Given the description of an element on the screen output the (x, y) to click on. 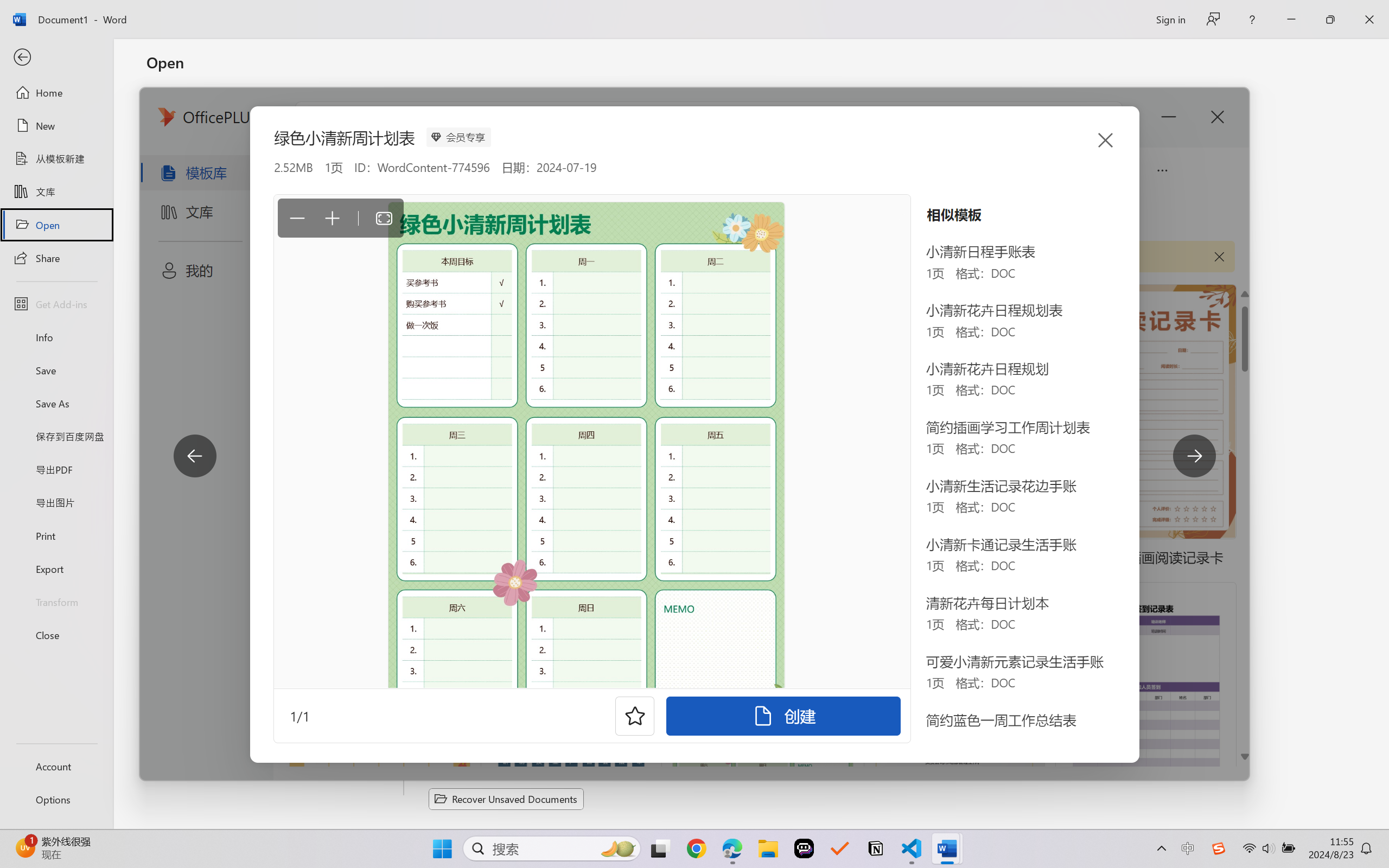
Documents (469, 134)
Options (56, 798)
Get Add-ins (56, 303)
Recent (275, 110)
Account (56, 765)
Browse (275, 340)
